Given the description of an element on the screen output the (x, y) to click on. 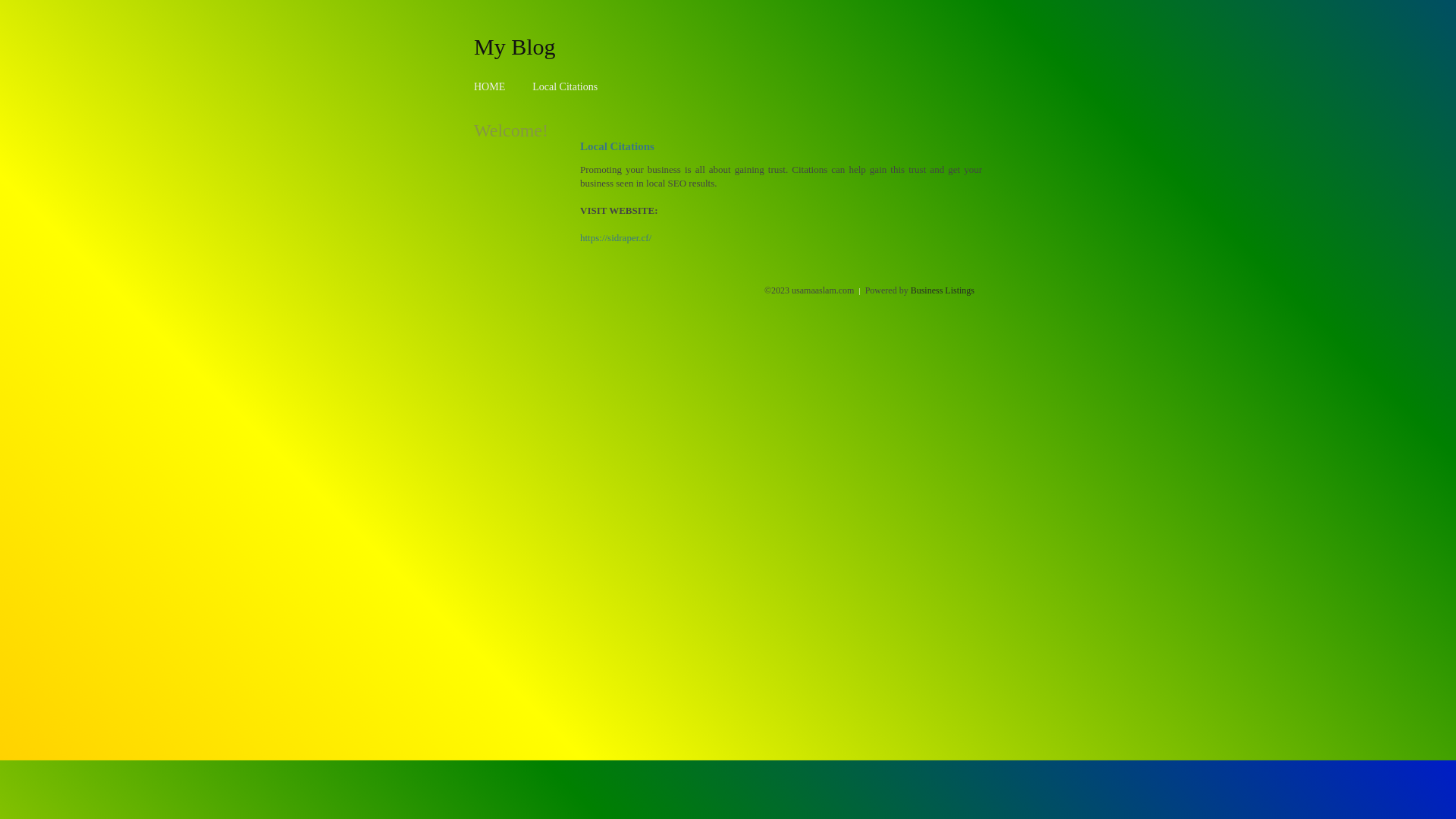
My Blog Element type: text (514, 46)
https://sidraper.cf/ Element type: text (615, 237)
HOME Element type: text (489, 86)
Business Listings Element type: text (942, 290)
Local Citations Element type: text (564, 86)
